Given the description of an element on the screen output the (x, y) to click on. 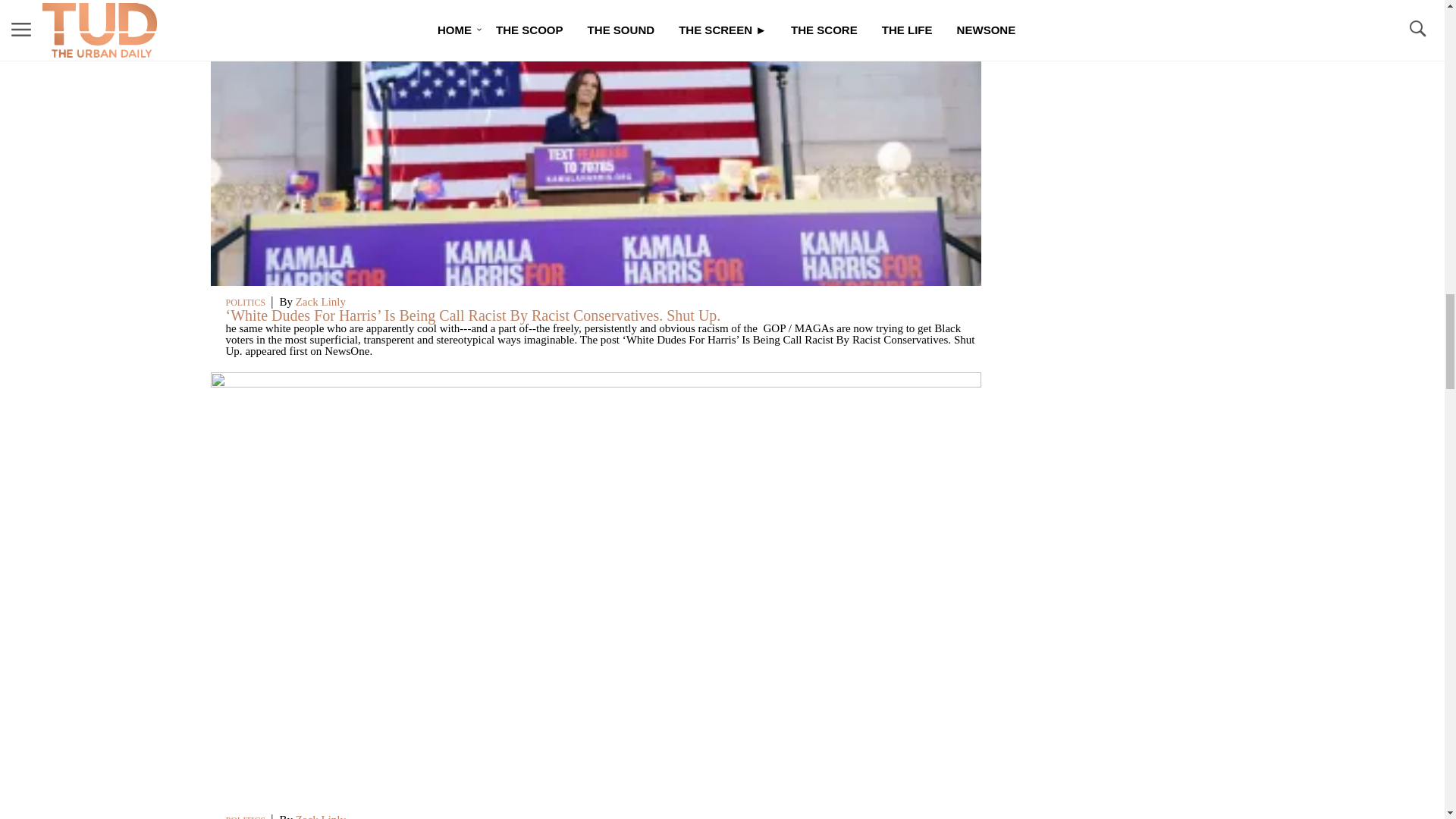
Zack Linly (320, 301)
Zack Linly (320, 816)
POLITICS (245, 302)
POLITICS (245, 816)
